Given the description of an element on the screen output the (x, y) to click on. 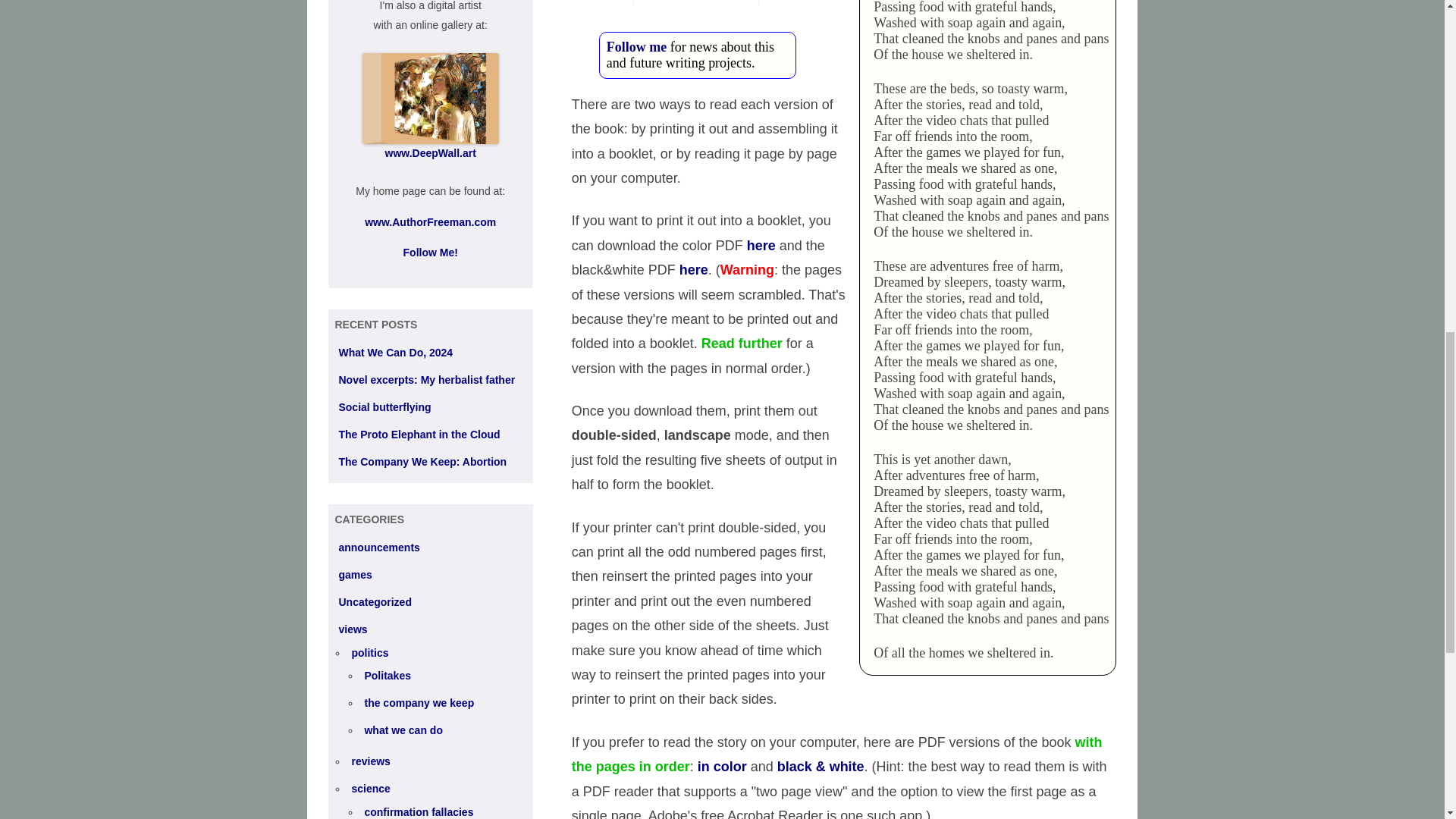
bw8 (758, 4)
color8 (634, 4)
here (761, 245)
Follow me for news about this and future writing projects. (844, 54)
